Given the description of an element on the screen output the (x, y) to click on. 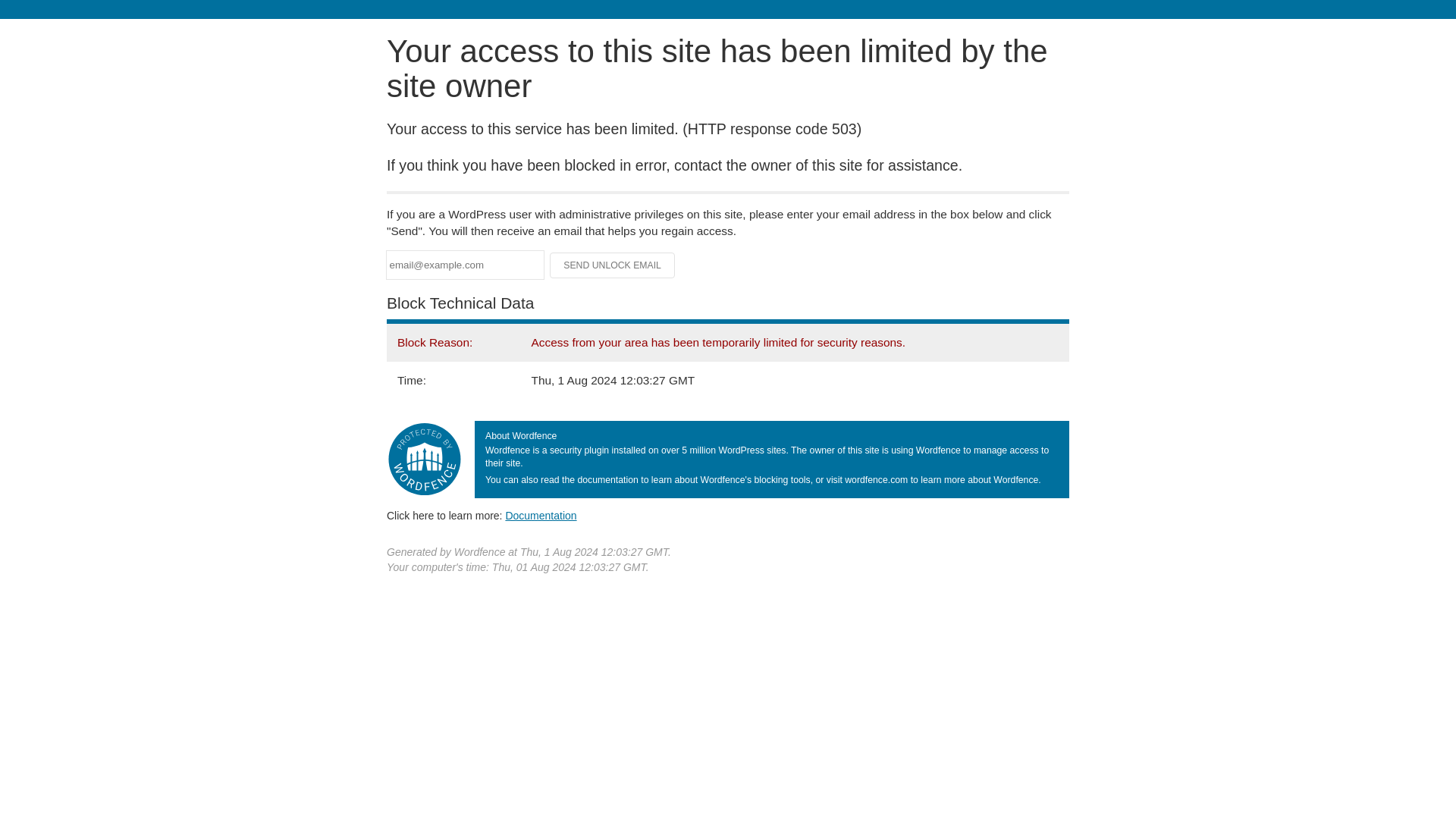
Send Unlock Email (612, 265)
Send Unlock Email (612, 265)
Documentation (540, 515)
